Given the description of an element on the screen output the (x, y) to click on. 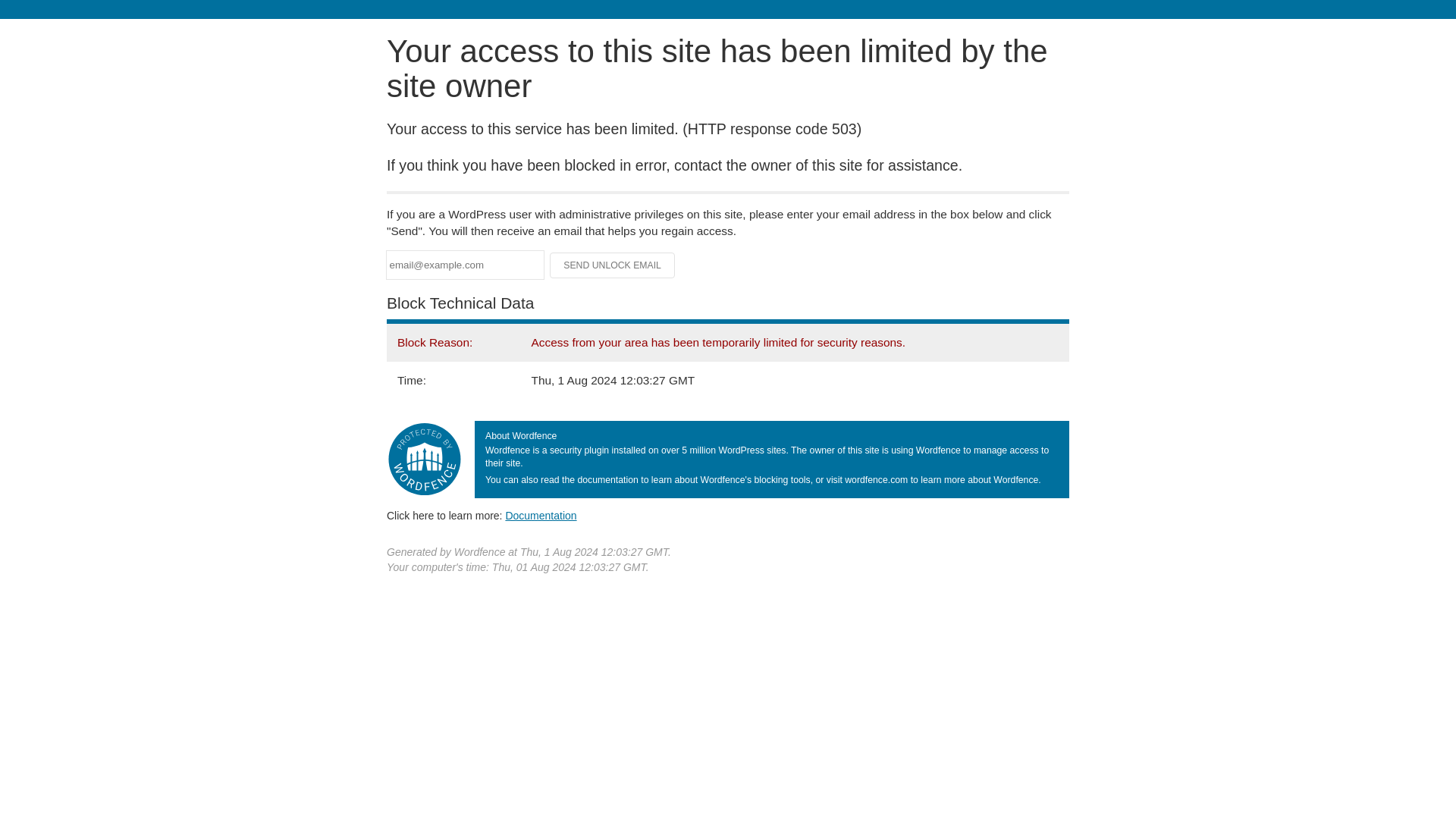
Send Unlock Email (612, 265)
Send Unlock Email (612, 265)
Documentation (540, 515)
